Given the description of an element on the screen output the (x, y) to click on. 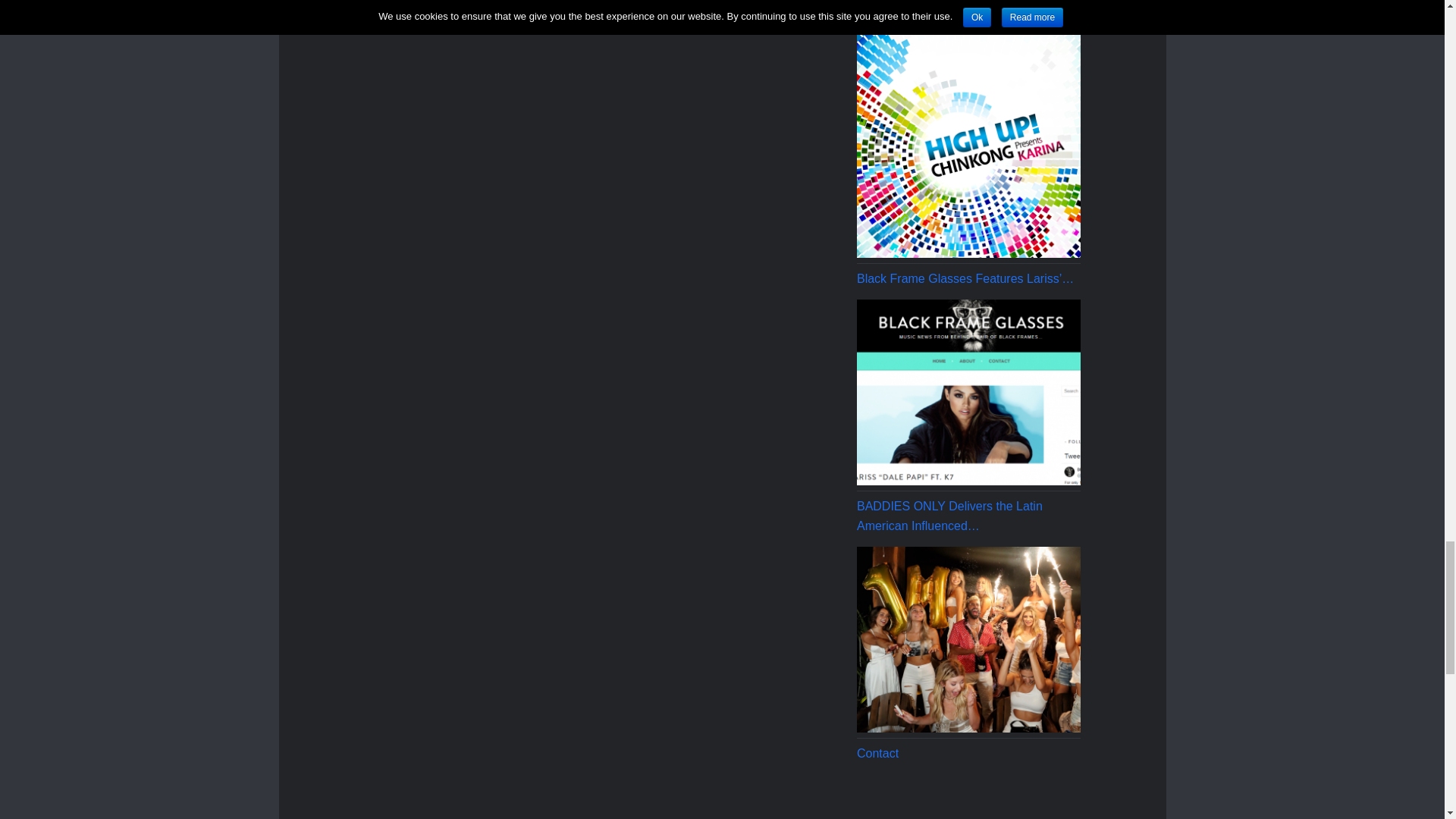
Contact (968, 796)
